Given the description of an element on the screen output the (x, y) to click on. 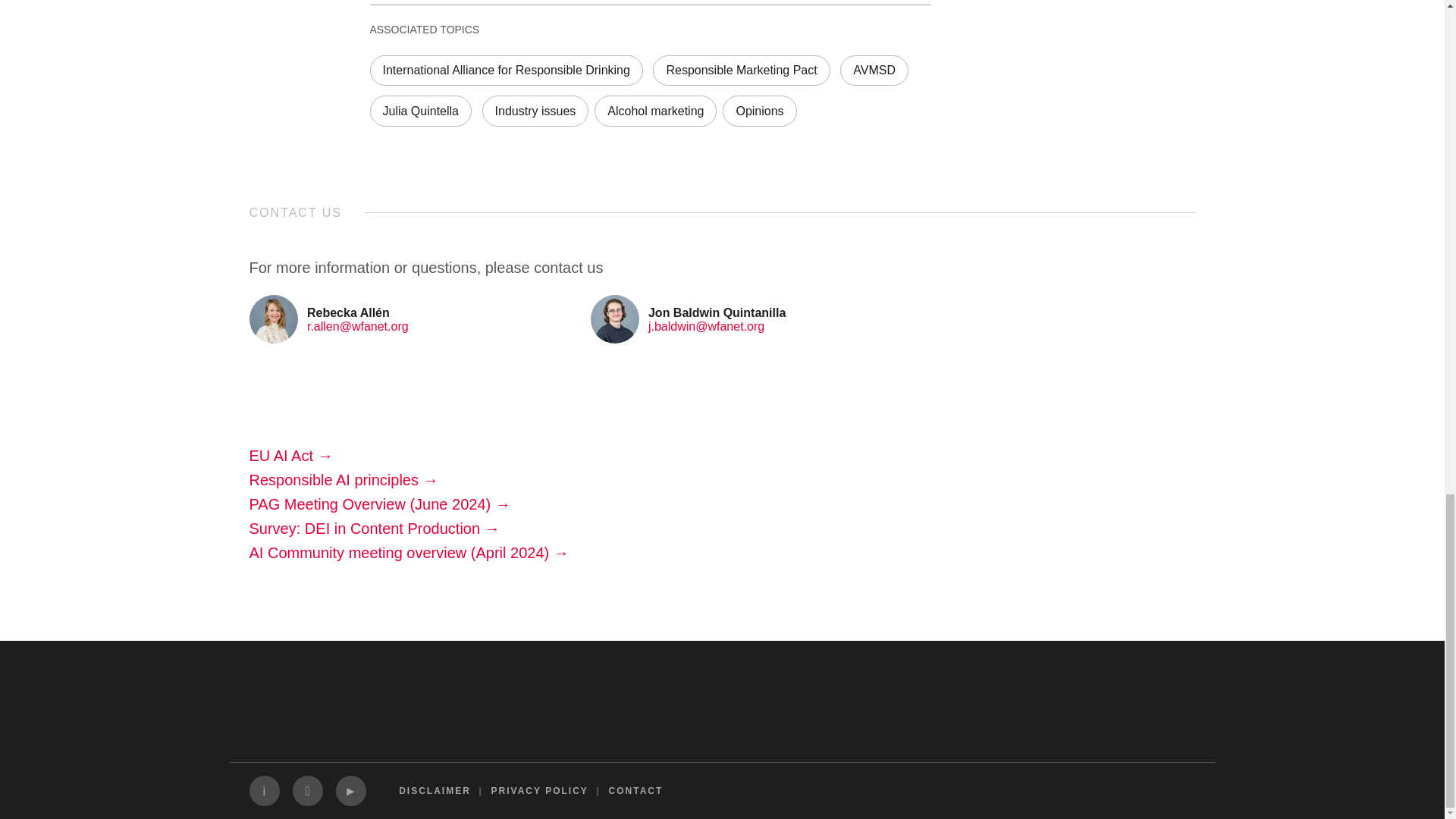
View our Youtube page (349, 790)
Show posts with the tag 'AVMSD' (874, 70)
Show posts with the tag 'Julia Quintella' (420, 110)
Join our LinkedIn group (263, 790)
Show posts with the tag 'Responsible Marketing Pact' (740, 70)
Follow us on X (307, 790)
